Given the description of an element on the screen output the (x, y) to click on. 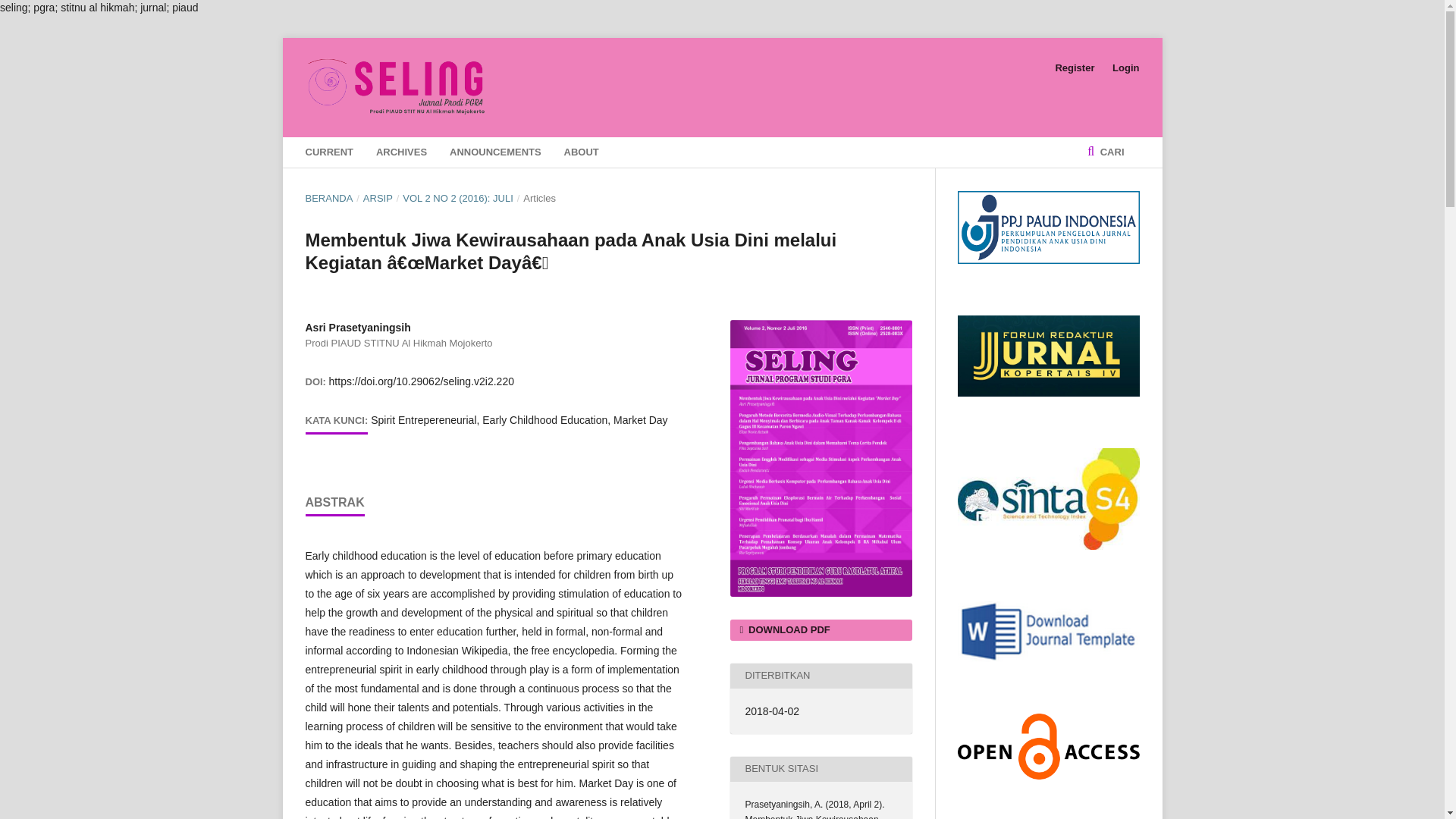
ARSIP (377, 198)
Register (1074, 67)
CURRENT (328, 152)
Login (1121, 67)
BERANDA (328, 198)
CARI (1104, 152)
ARCHIVES (400, 152)
ABOUT (581, 152)
DOWNLOAD PDF (820, 629)
ANNOUNCEMENTS (495, 152)
